Given the description of an element on the screen output the (x, y) to click on. 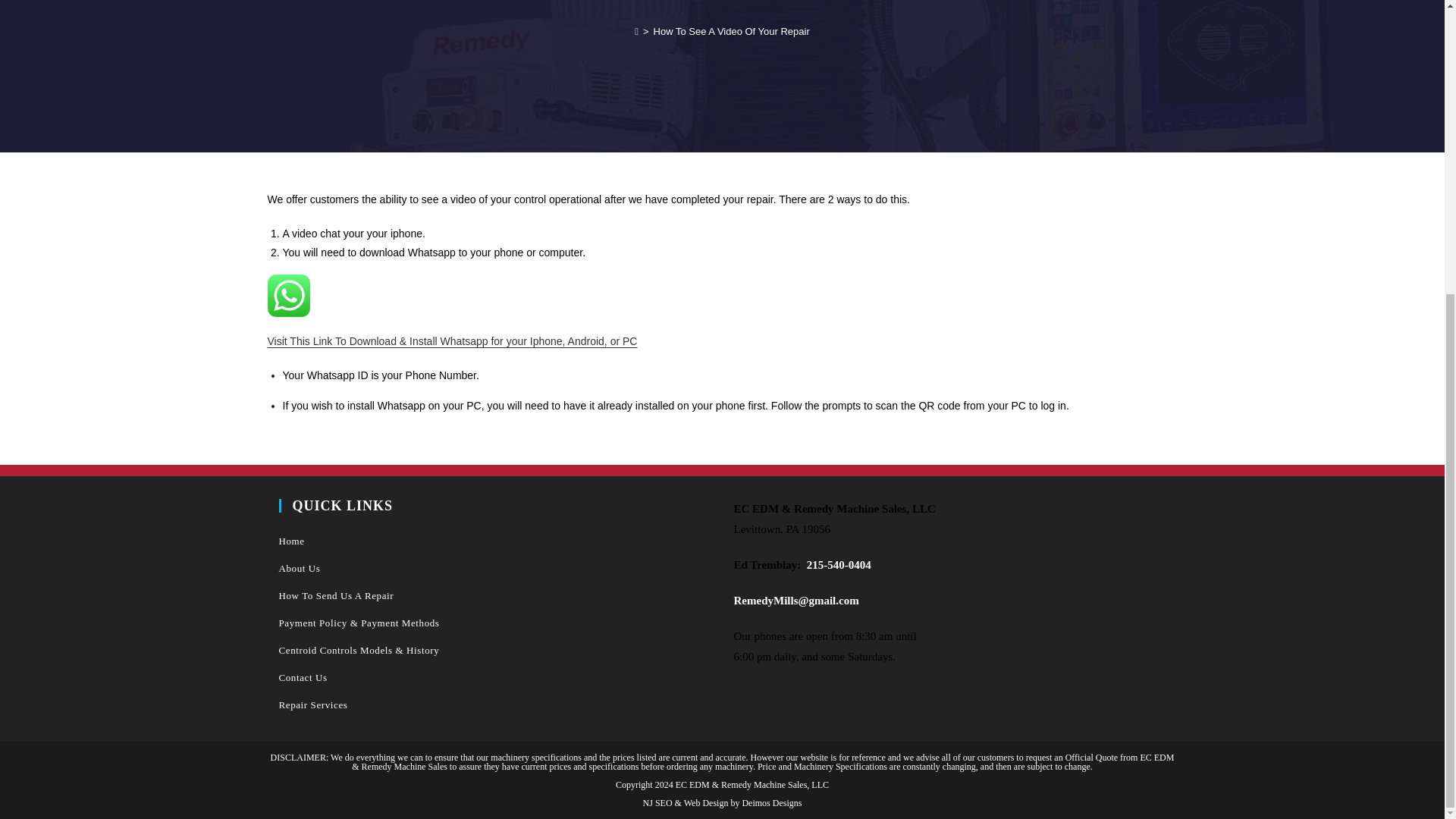
Home (495, 541)
Contact Us (495, 677)
Repair Services (495, 705)
How To Send Us A Repair (495, 595)
About Us (495, 568)
How To See A Video Of Your Repair (731, 30)
215-540-0404 (838, 564)
